Given the description of an element on the screen output the (x, y) to click on. 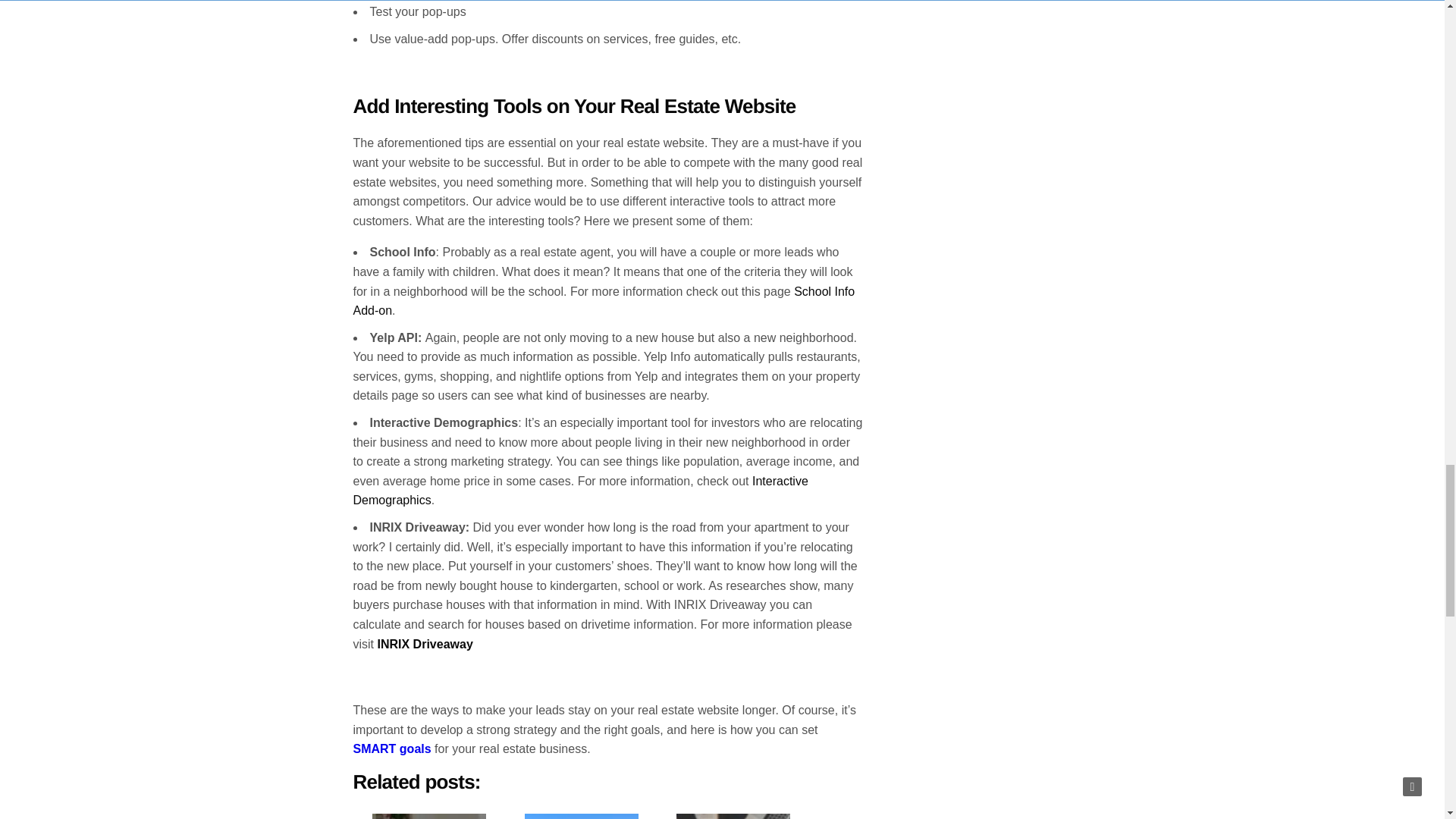
Interactive Demographics (580, 490)
INRIX Driveaway (425, 644)
School Info Add-on (604, 301)
